Given the description of an element on the screen output the (x, y) to click on. 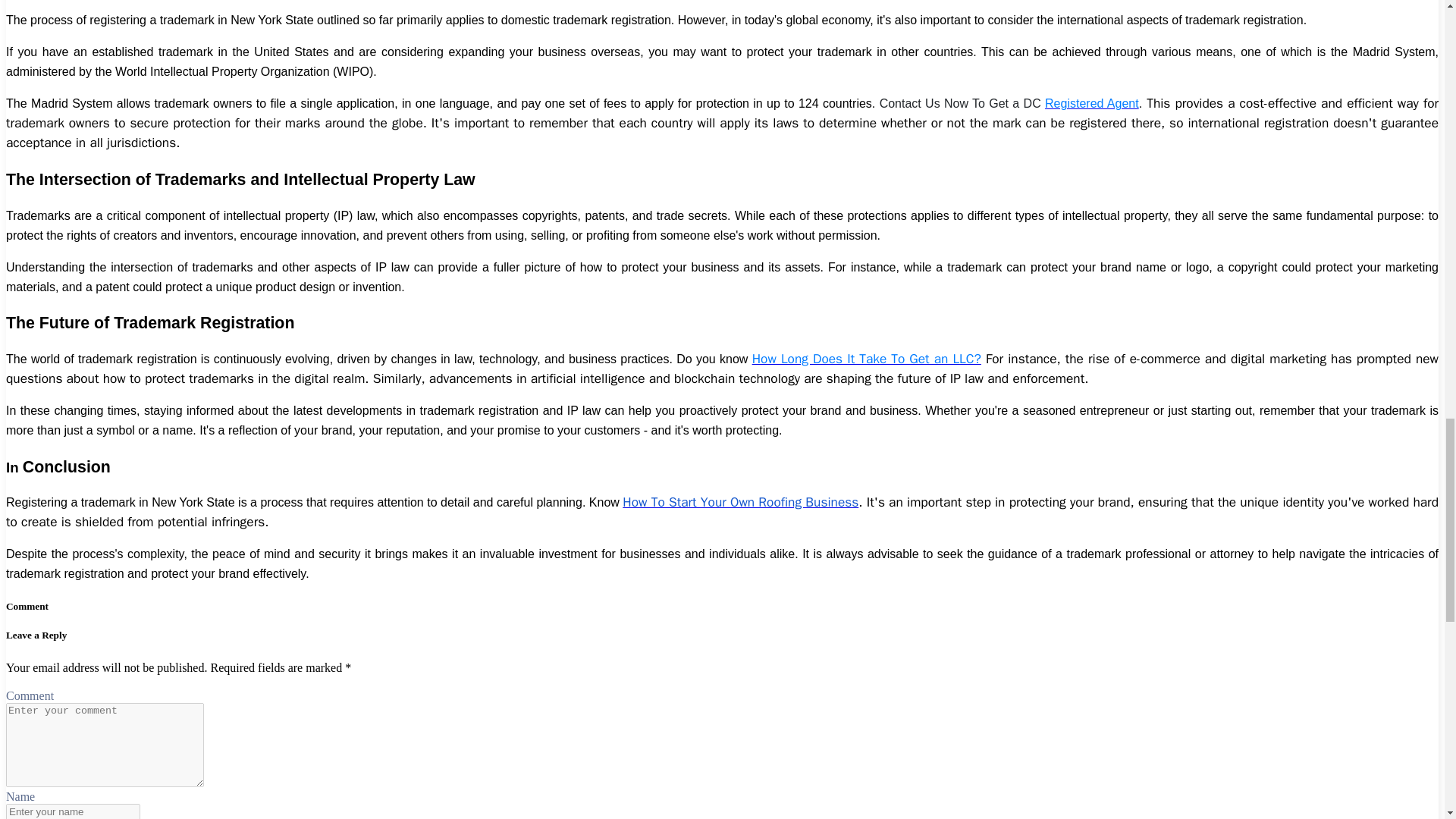
Registered Agent (1091, 103)
How Long Does It Take To Get an LLC? (866, 358)
How To Start Your Own Roofing Business (741, 501)
